Given the description of an element on the screen output the (x, y) to click on. 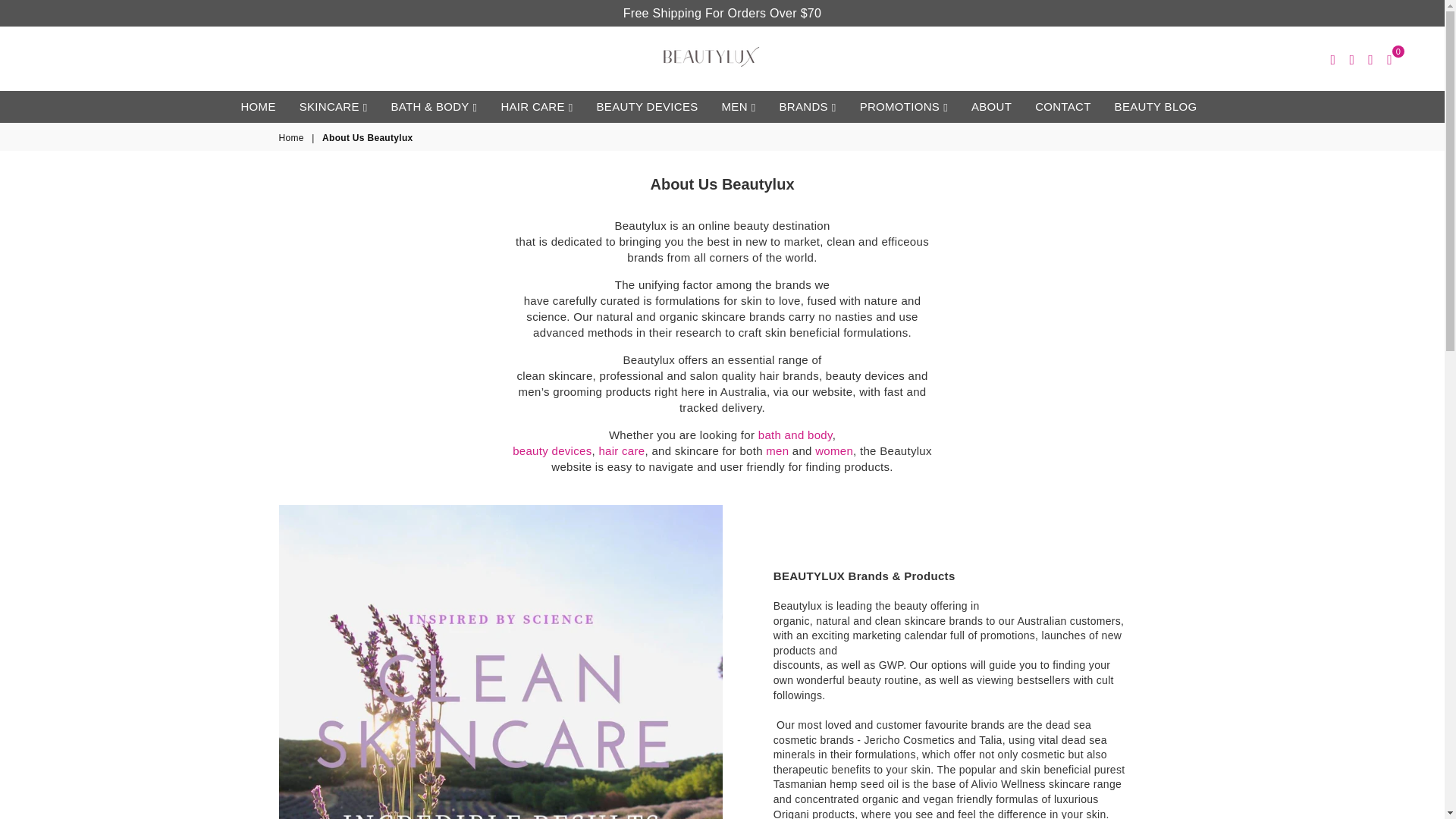
0 (1389, 57)
All Skin Types (834, 450)
BEAUTYLUX (710, 56)
Men Care (777, 450)
Hair Care (621, 450)
Cart (1389, 57)
Wishlist (1370, 57)
Search (1332, 57)
SKINCARE (333, 106)
Beauty Devices (551, 450)
Settings (1351, 57)
Back to the home page (292, 137)
HOME (257, 106)
